Given the description of an element on the screen output the (x, y) to click on. 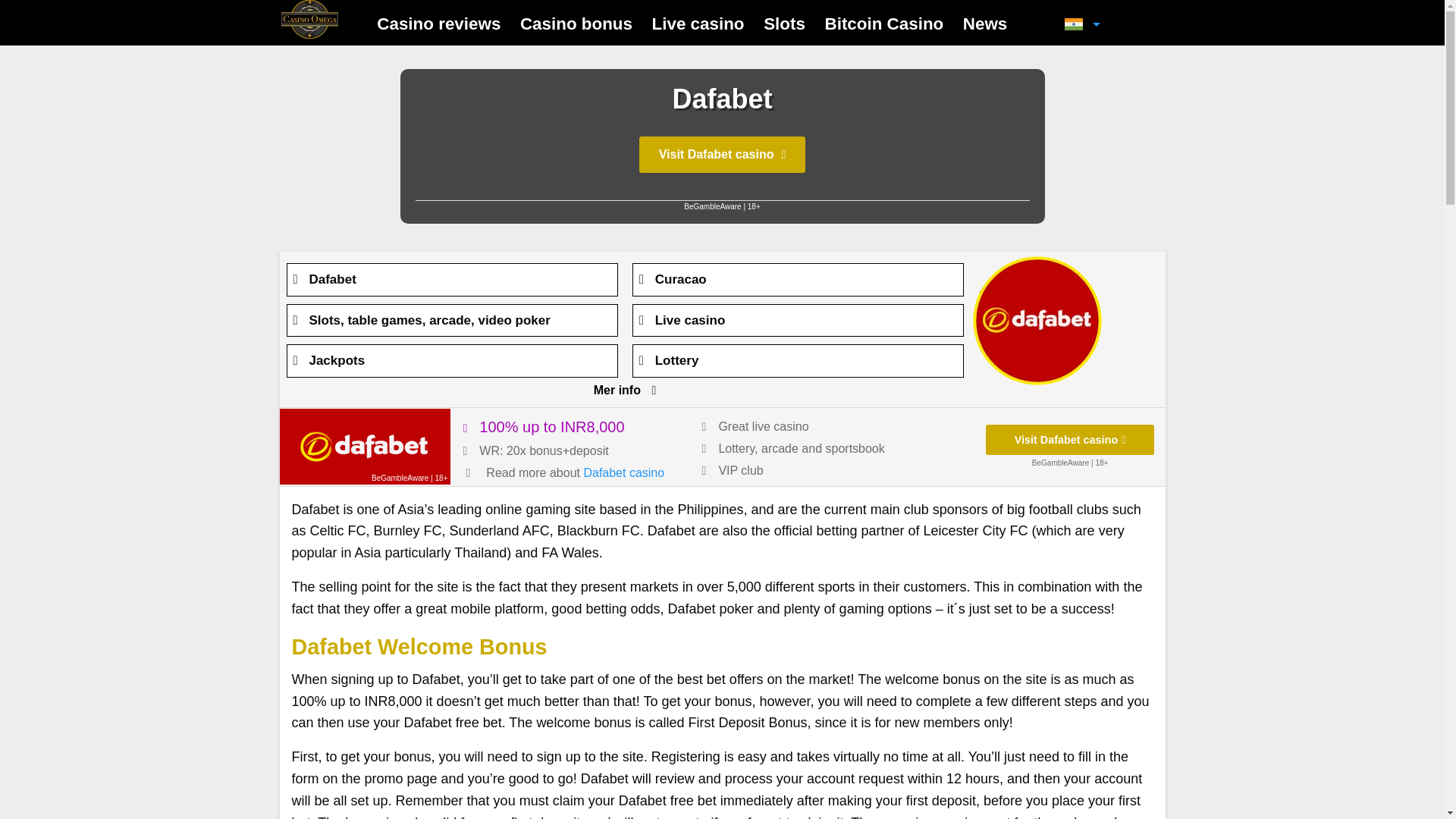
Visit Dafabet casino (1069, 440)
 Visit Dafabet casino (364, 446)
Dafabet casino (623, 472)
Casino bonus (576, 24)
Visa mer infomation (617, 390)
Visit Dafabet casino (722, 154)
Casino reviews (438, 24)
News (984, 24)
Visit Dafabet casino (1069, 440)
Dafabet casino (623, 472)
